Given the description of an element on the screen output the (x, y) to click on. 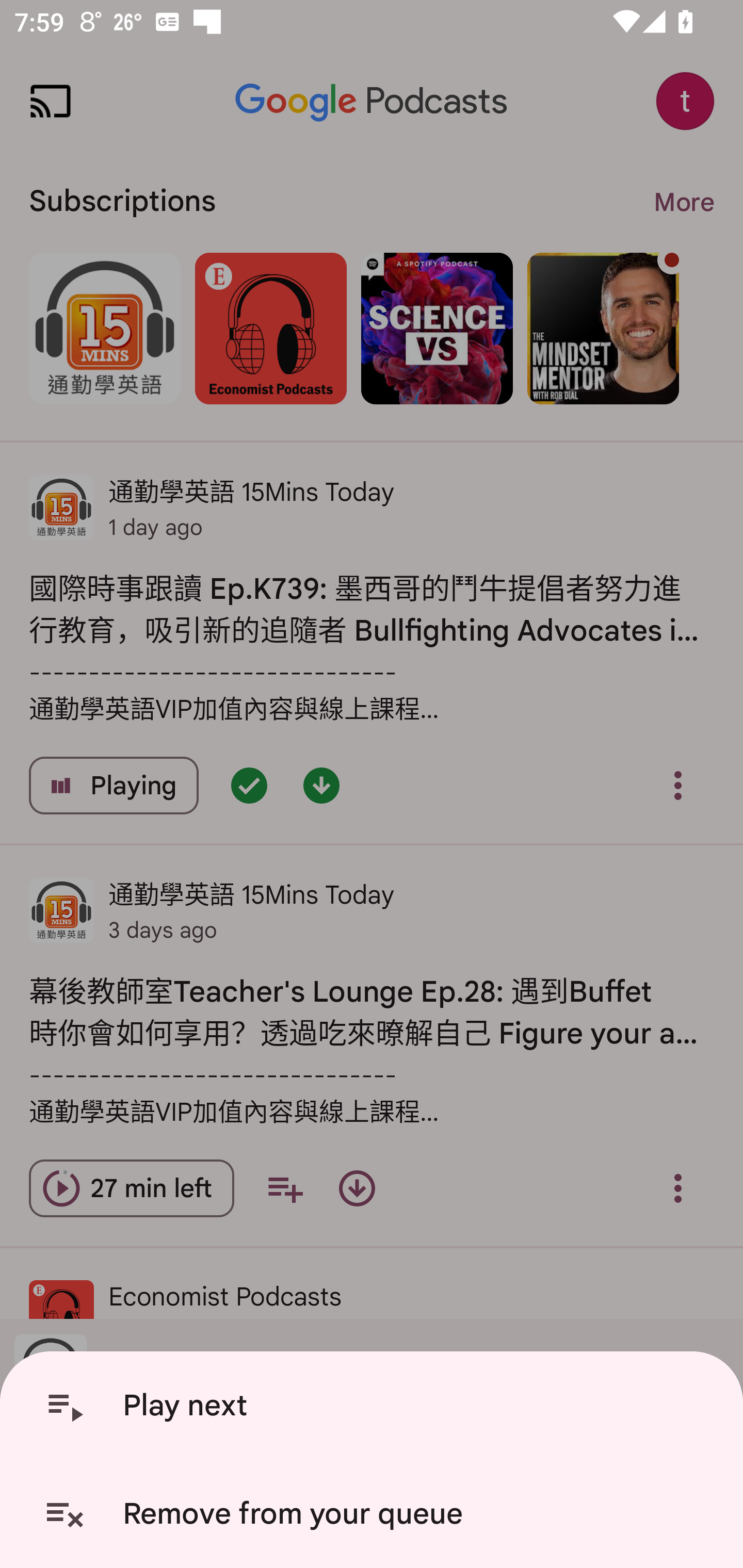
Play next (375, 1405)
Remove from your queue (375, 1513)
